Given the description of an element on the screen output the (x, y) to click on. 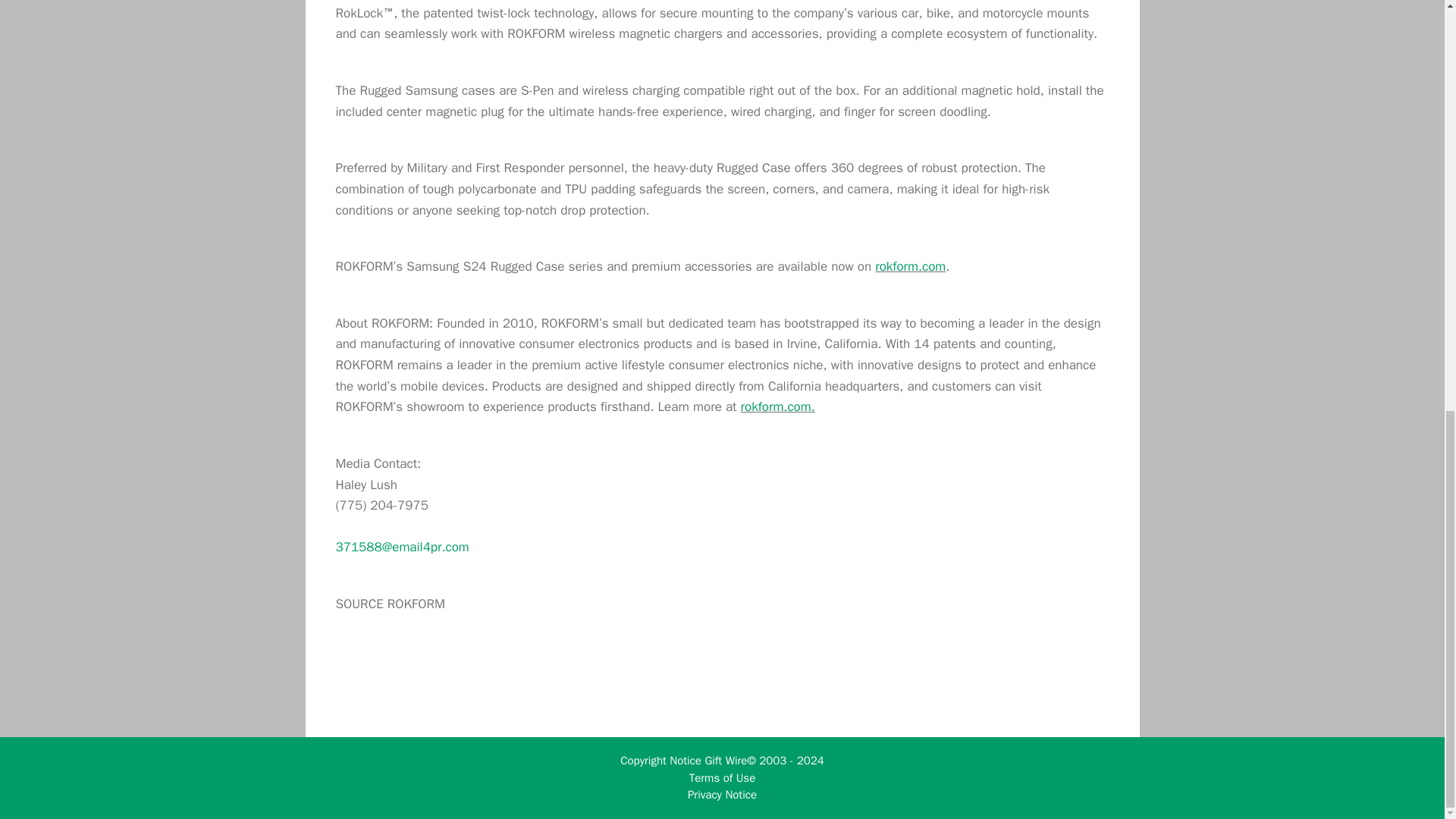
Terms of Use (721, 777)
rokform.com. (778, 406)
Privacy Notice (722, 794)
rokform.com (909, 266)
